Given the description of an element on the screen output the (x, y) to click on. 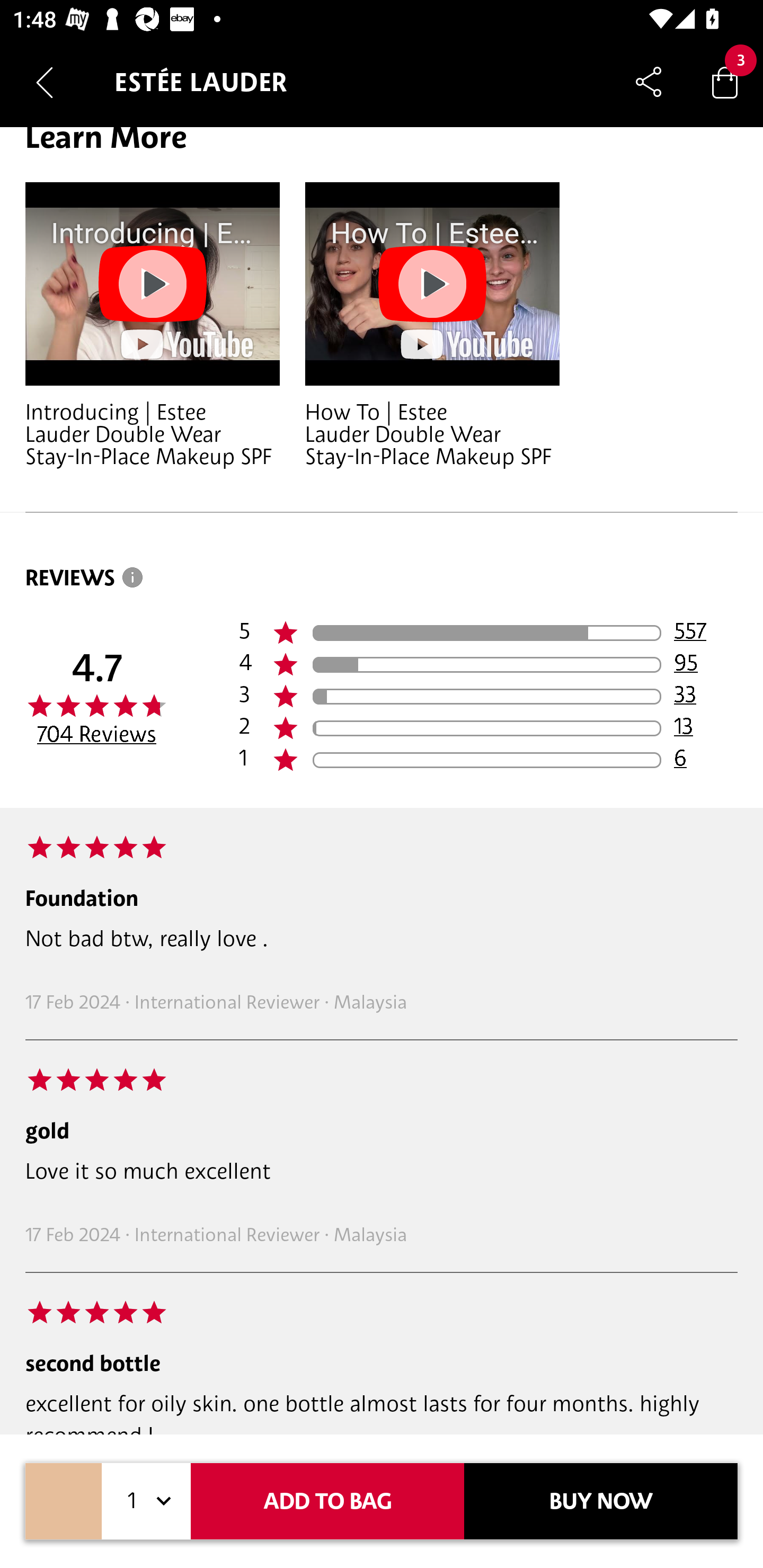
Navigate up (44, 82)
Share (648, 81)
Bag (724, 81)
Play (152, 283)
Play (432, 283)
5 79.0 557 (487, 633)
4 13.0 95 (487, 664)
3 4.0 33 (487, 695)
2 1.0 13 (487, 727)
704 Reviews (96, 733)
1 0.0 6 (487, 760)
Not bad btw, really love . (381, 938)
Love it so much excellent (381, 1171)
1 (145, 1500)
ADD TO BAG (326, 1500)
BUY NOW (600, 1500)
